Given the description of an element on the screen output the (x, y) to click on. 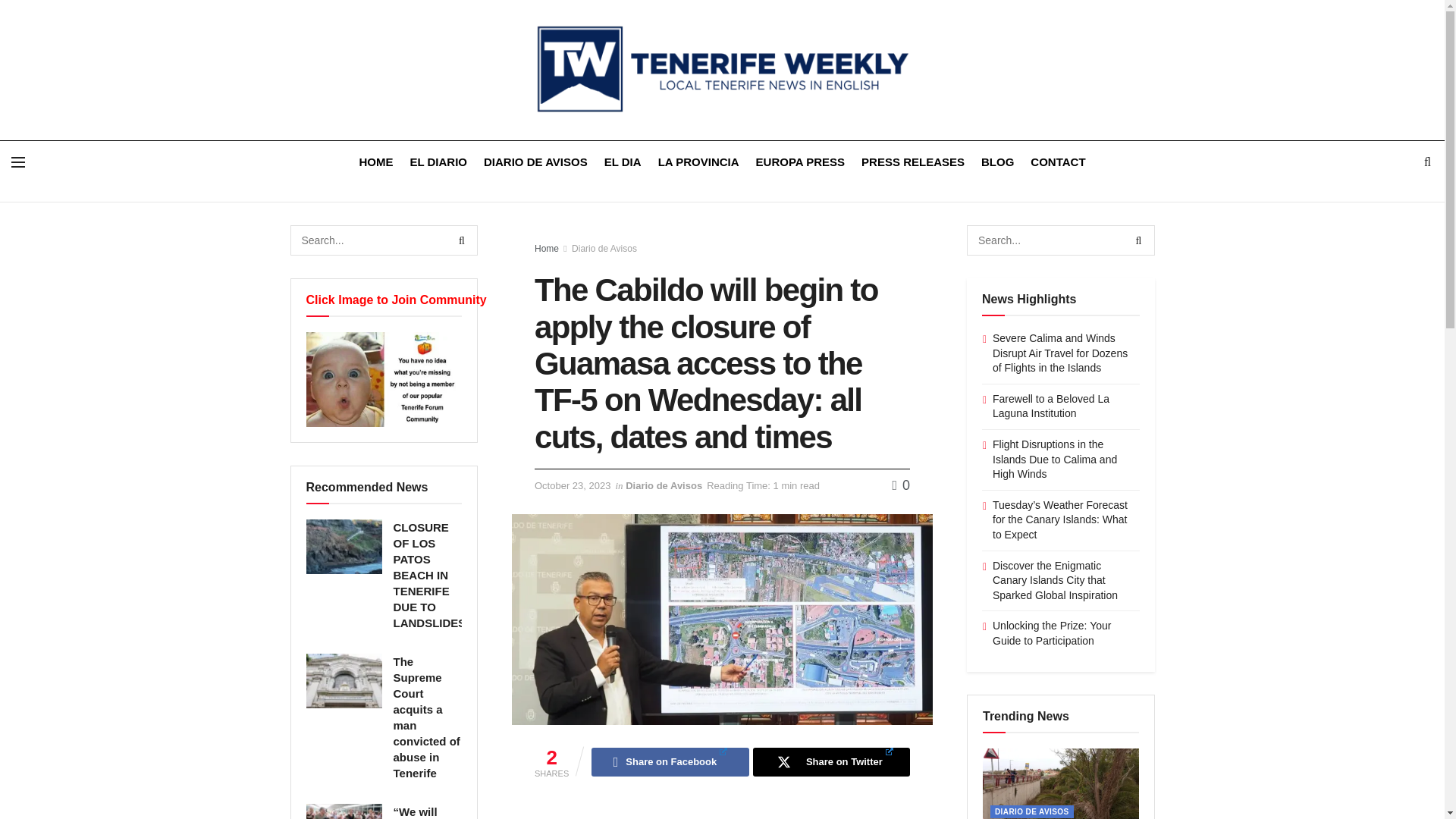
0 (900, 485)
October 23, 2023 (572, 485)
EL DIARIO (438, 161)
Diario de Avisos (663, 485)
DIARIO DE AVISOS (535, 161)
PRESS RELEASES (912, 161)
Diario de Avisos (604, 248)
EL DIA (623, 161)
HOME (375, 161)
EUROPA PRESS (800, 161)
